Given the description of an element on the screen output the (x, y) to click on. 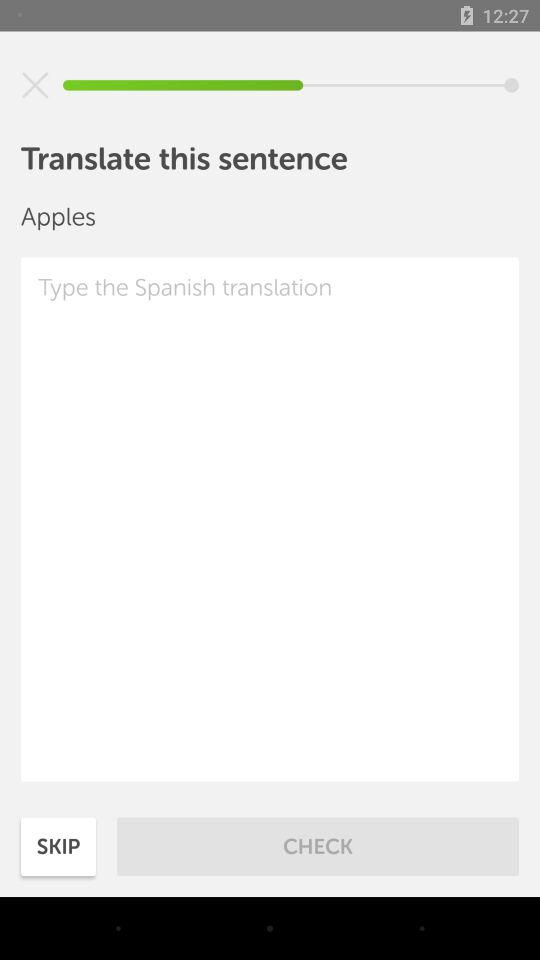
type in spanish text for translation (270, 519)
